Given the description of an element on the screen output the (x, y) to click on. 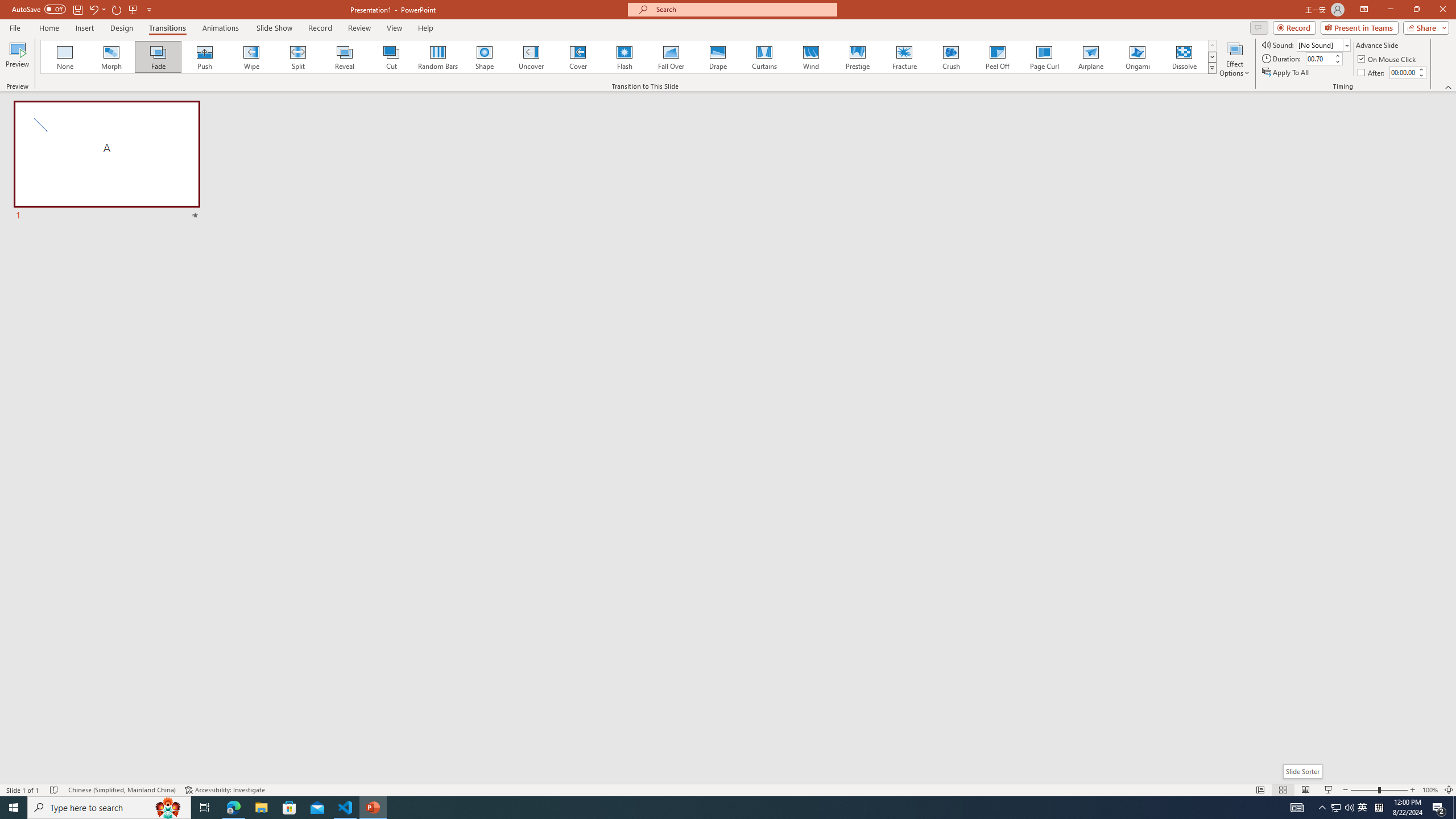
Fall Over (670, 56)
Split (298, 56)
On Mouse Click (1387, 58)
Peel Off (997, 56)
Flash (624, 56)
Uncover (531, 56)
